Given the description of an element on the screen output the (x, y) to click on. 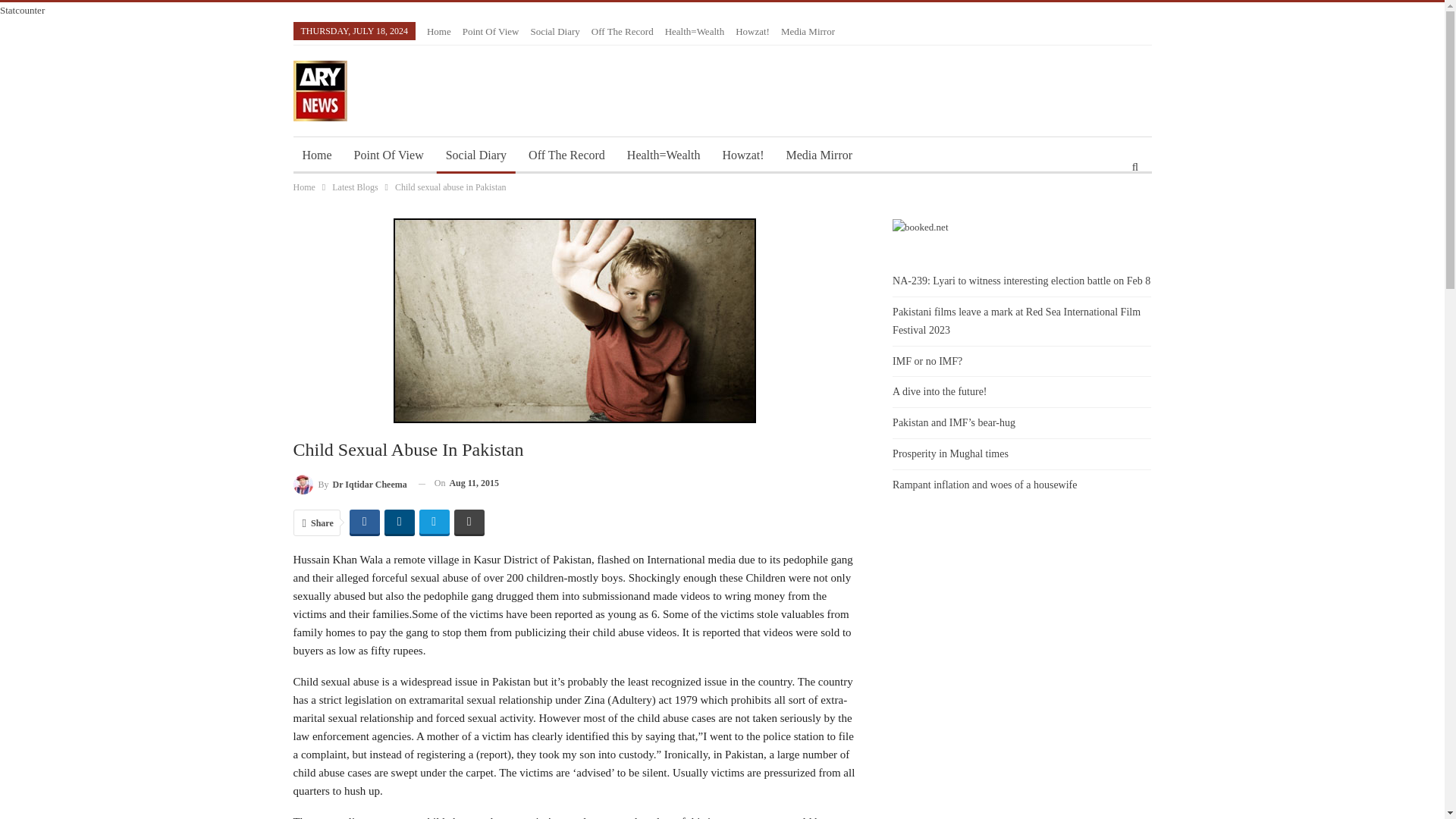
Point Of View (491, 30)
Social Diary (554, 30)
Social Diary (475, 155)
Media Mirror (807, 30)
Browse Author Articles (349, 483)
Statcounter (22, 9)
Home (316, 155)
Media Mirror (819, 155)
Howzat! (752, 30)
Home (438, 30)
Off The Record (566, 155)
Howzat! (743, 155)
Point Of View (388, 155)
Latest Blogs (354, 187)
Off The Record (622, 30)
